Given the description of an element on the screen output the (x, y) to click on. 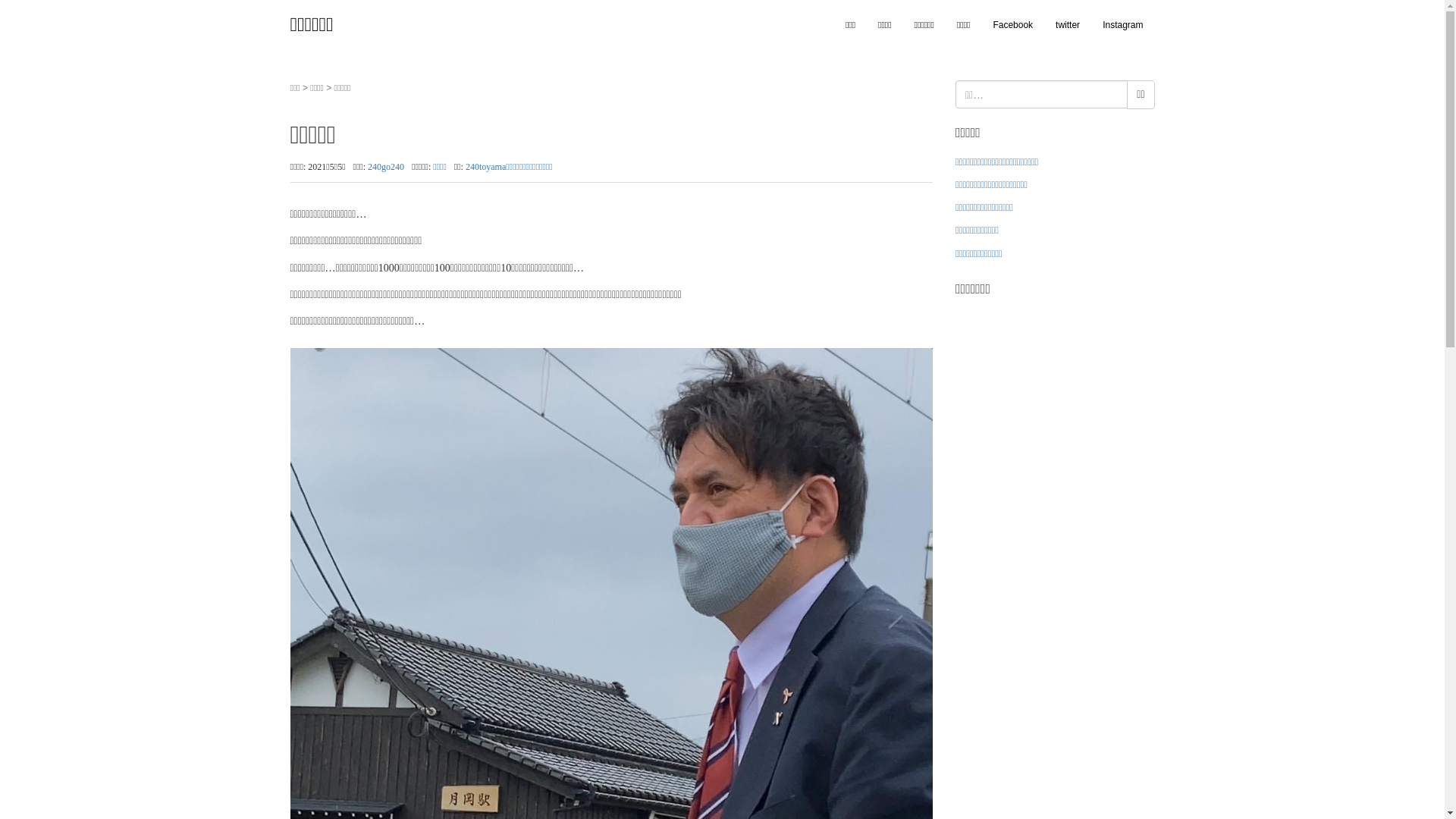
twitter Element type: text (1067, 25)
240go240 Element type: text (385, 166)
Facebook Element type: text (1012, 25)
Instagram Element type: text (1122, 25)
